Given the description of an element on the screen output the (x, y) to click on. 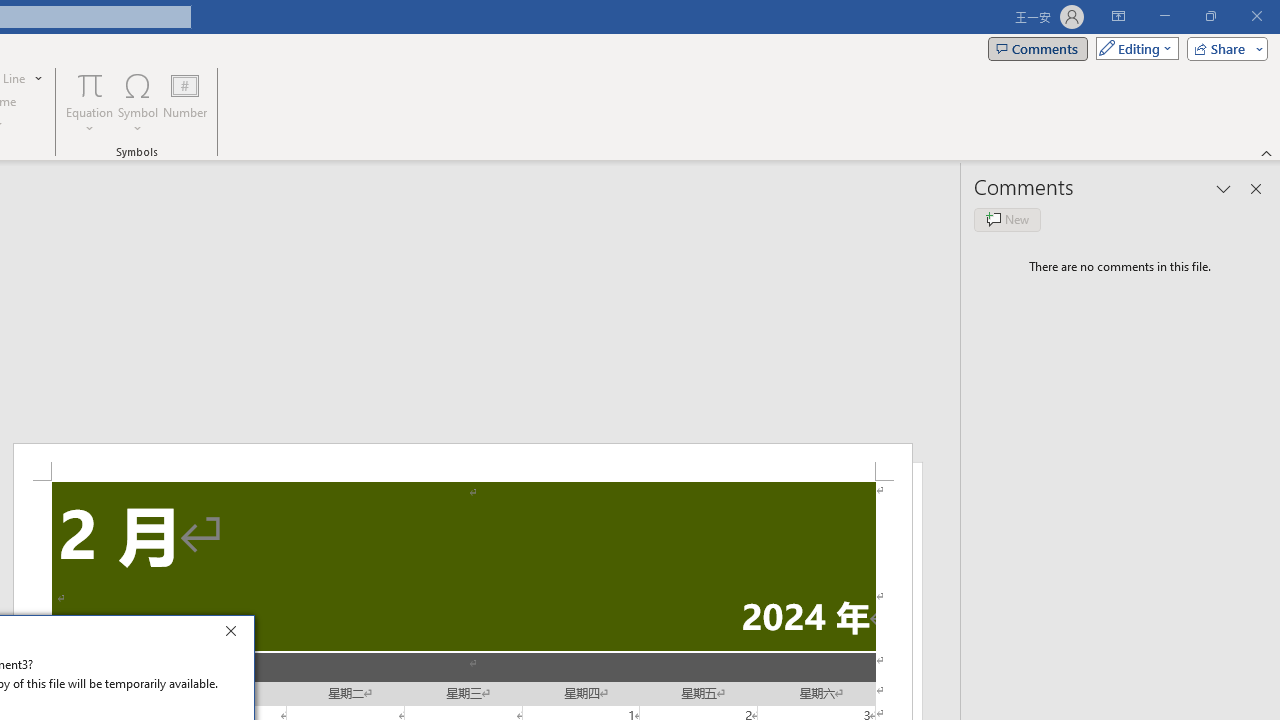
Symbol (138, 102)
Number... (185, 102)
Equation (90, 84)
New comment (1007, 219)
Header -Section 2- (462, 461)
